Given the description of an element on the screen output the (x, y) to click on. 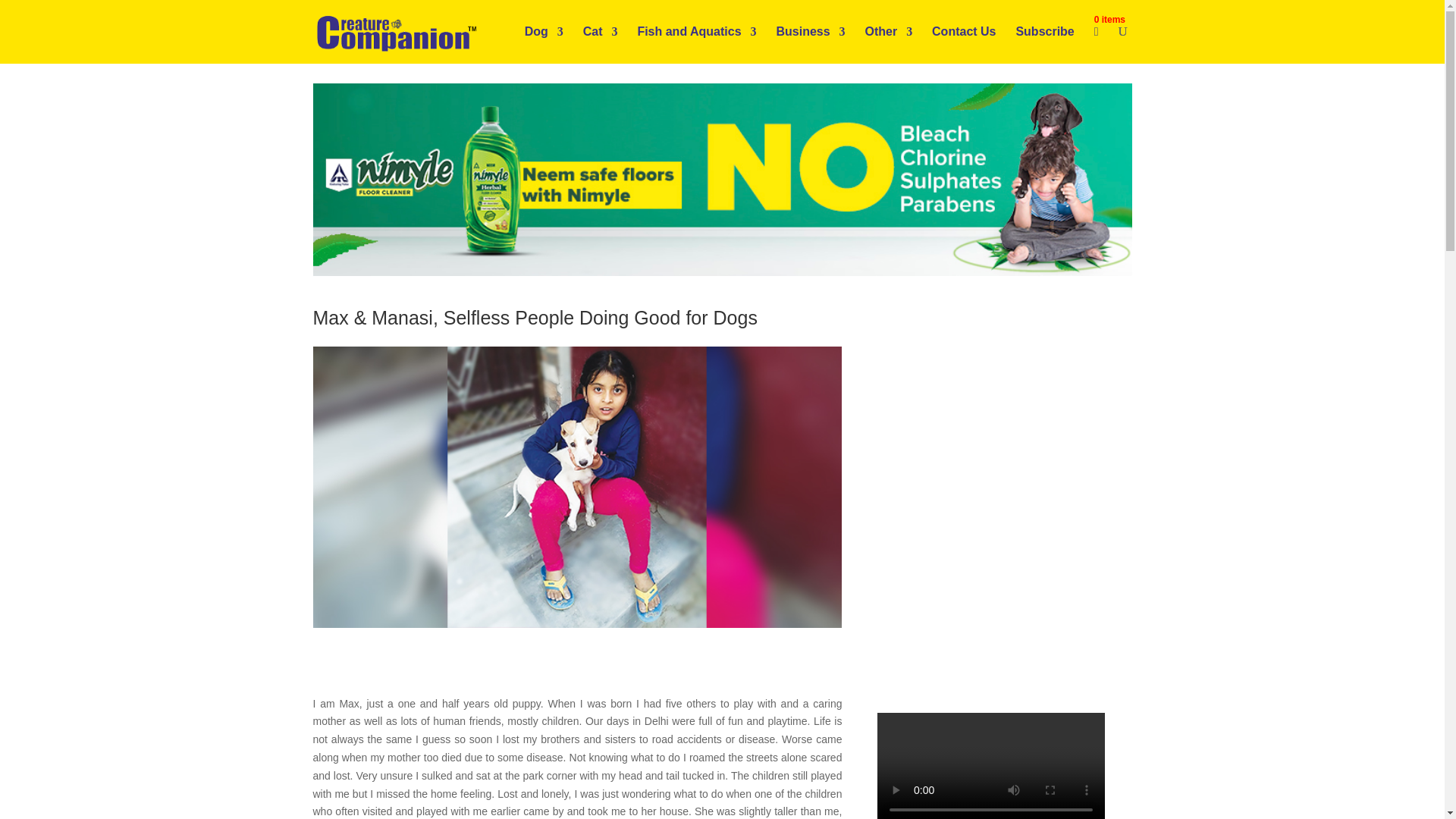
Fish and Aquatics (696, 44)
Other (888, 44)
Dog (543, 44)
Subscribe (1044, 44)
Business (810, 44)
Cat (600, 44)
Contact Us (963, 44)
